Given the description of an element on the screen output the (x, y) to click on. 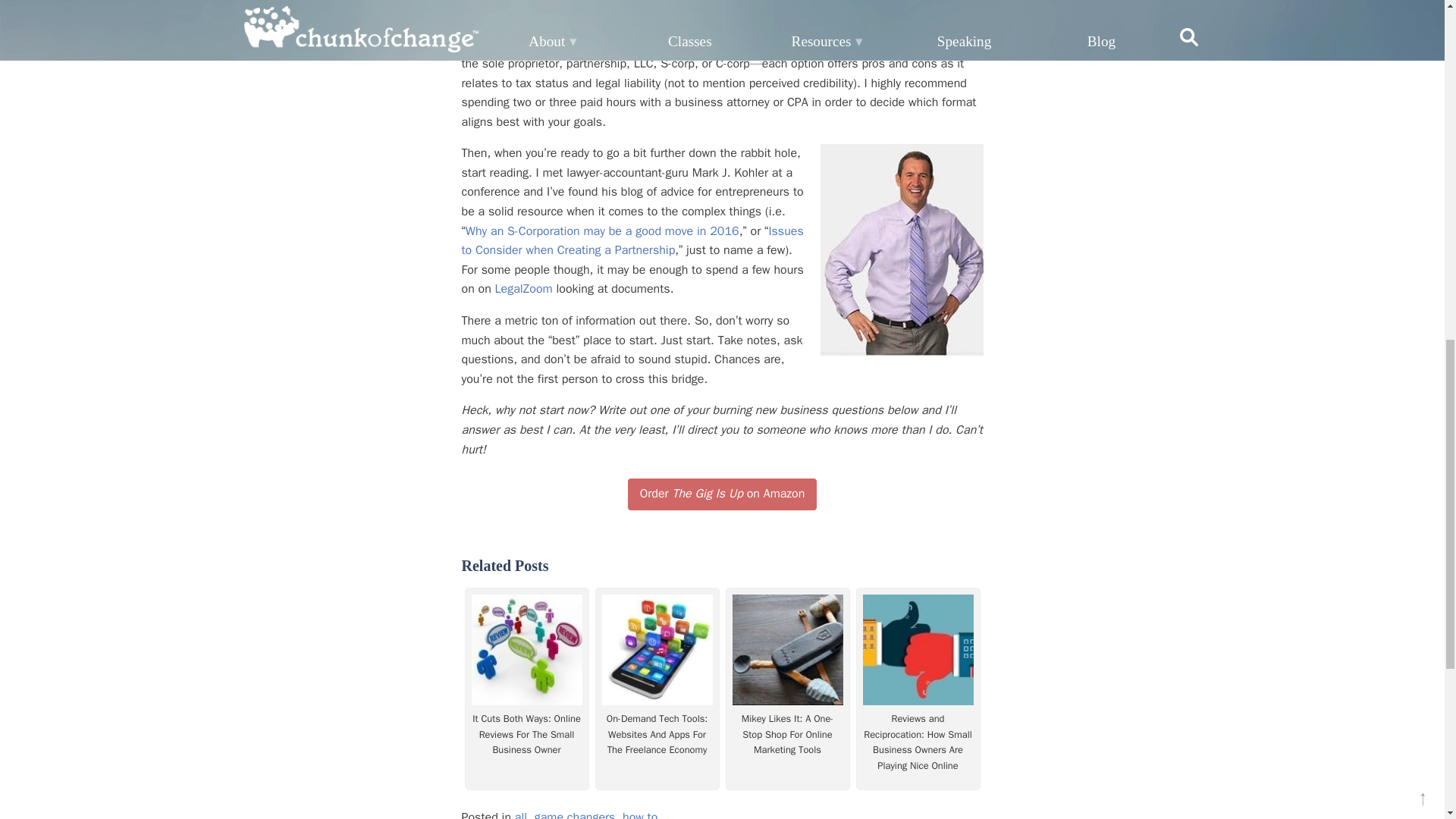
all (521, 814)
Mikey Likes It: A One-Stop Shop For Online Marketing Tools (787, 734)
how to (640, 814)
Mikey Likes It: A One-Stop Shop For Online Marketing Tools (787, 734)
